Given the description of an element on the screen output the (x, y) to click on. 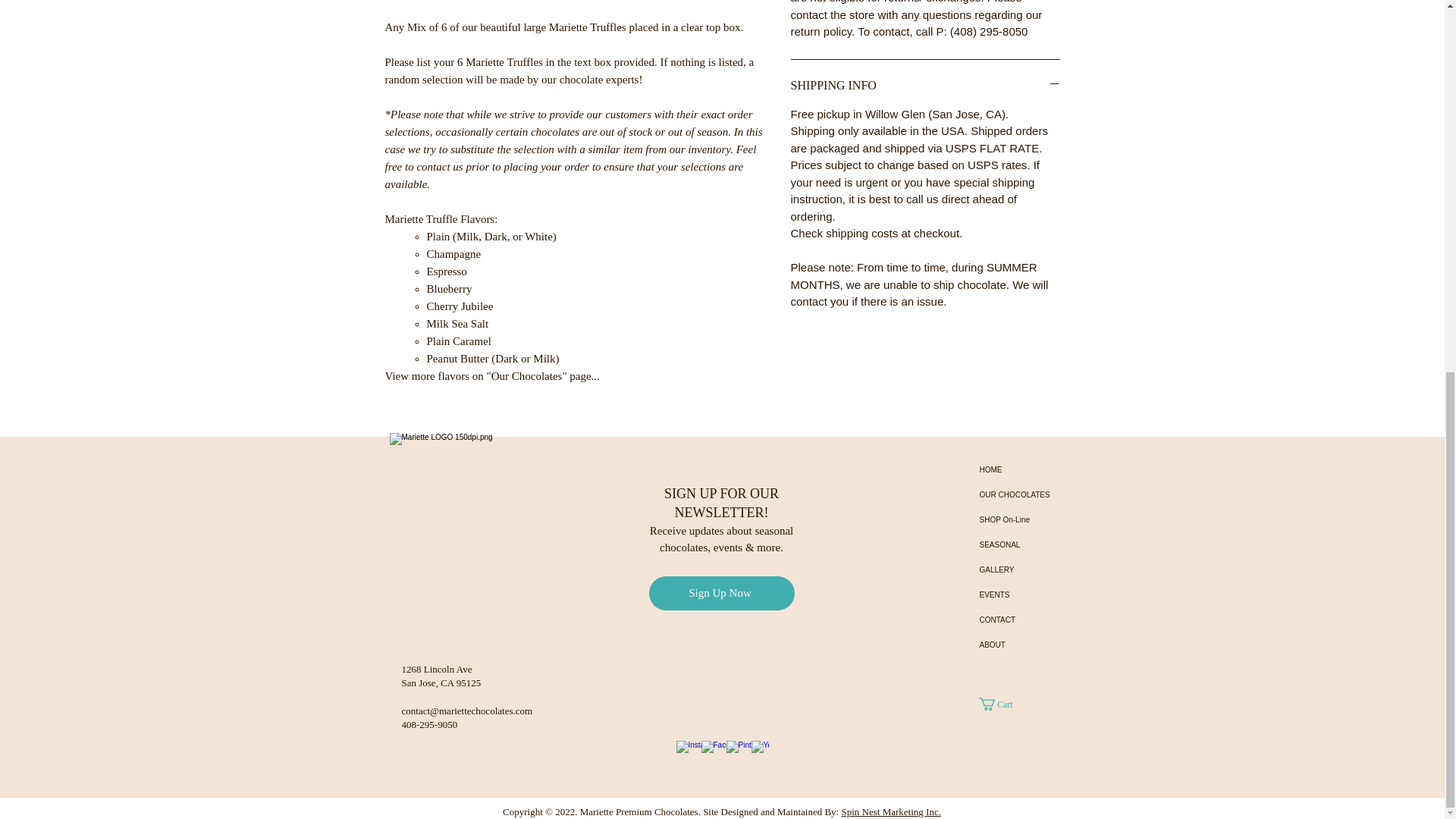
ABOUT (1032, 644)
EVENTS (1032, 594)
CONTACT (1032, 619)
OUR CHOCOLATES (1032, 494)
SHIPPING INFO (924, 85)
Cart (1001, 703)
GALLERY (1032, 569)
Spin Nest Marketing Inc. (890, 811)
Cart (1001, 703)
HOME (1032, 469)
SHOP On-Line (1032, 519)
Sign Up Now (721, 593)
